Given the description of an element on the screen output the (x, y) to click on. 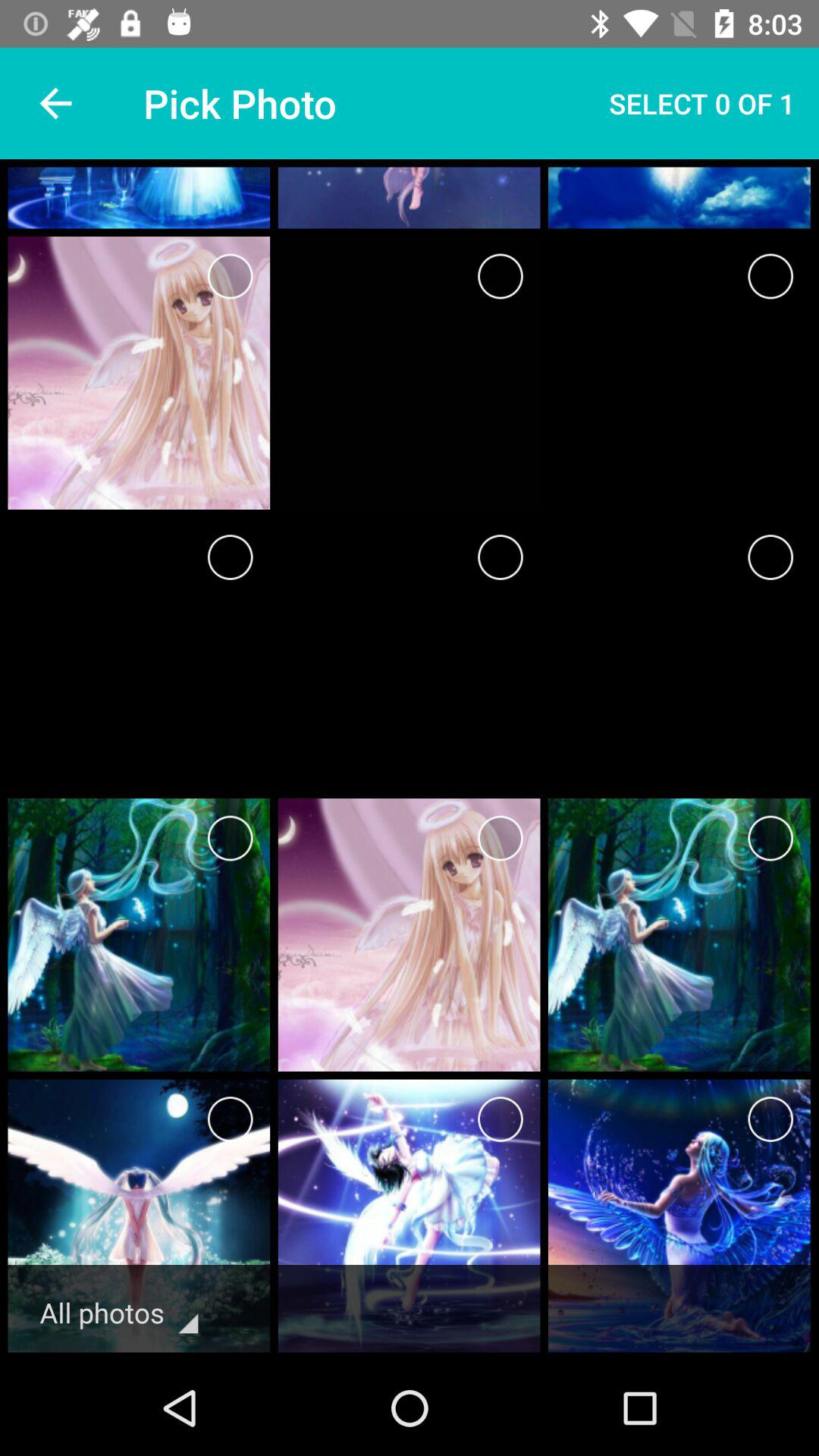
choose a picture (500, 557)
